Given the description of an element on the screen output the (x, y) to click on. 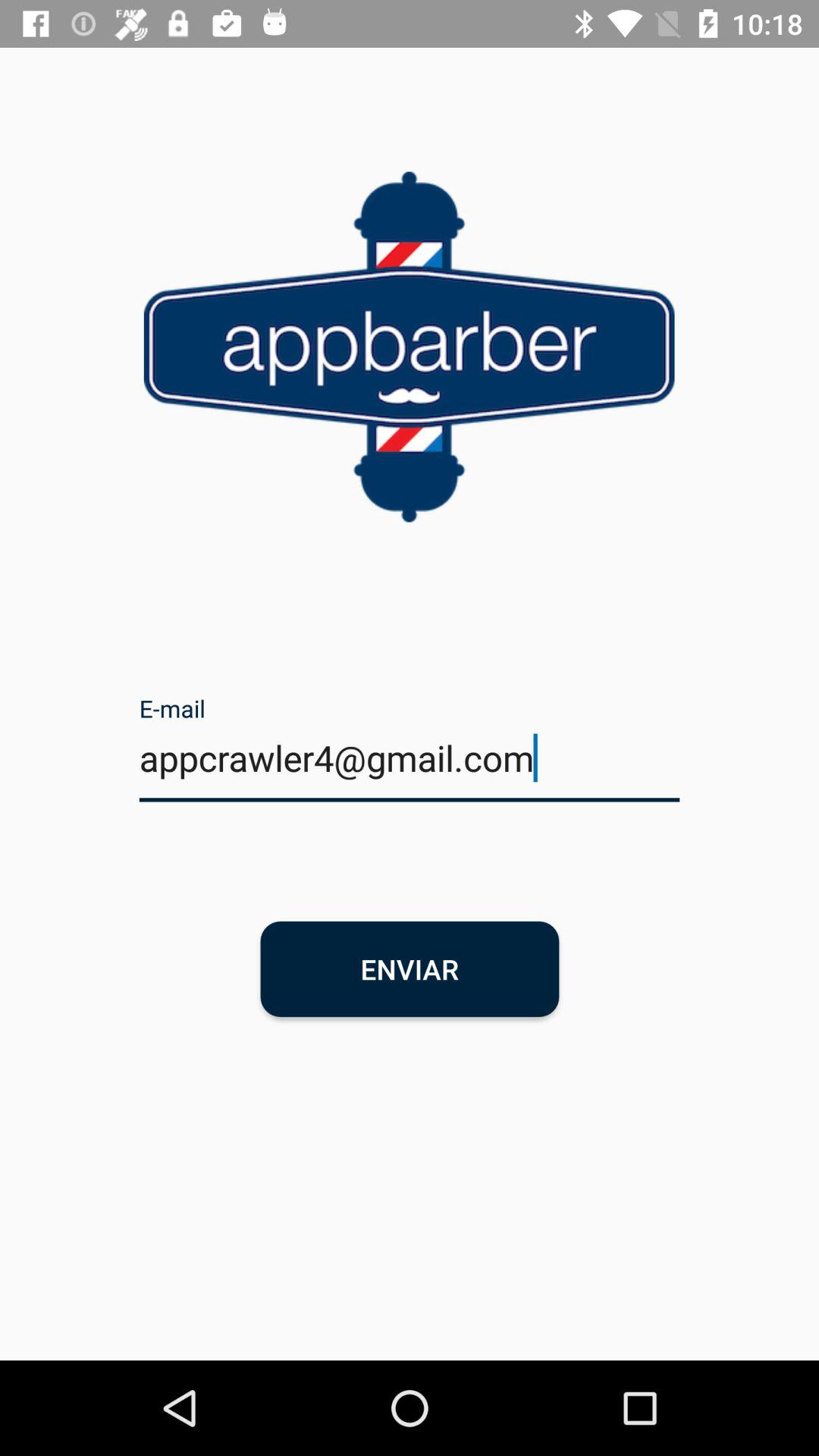
flip to the appcrawler4@gmail.com item (409, 767)
